Given the description of an element on the screen output the (x, y) to click on. 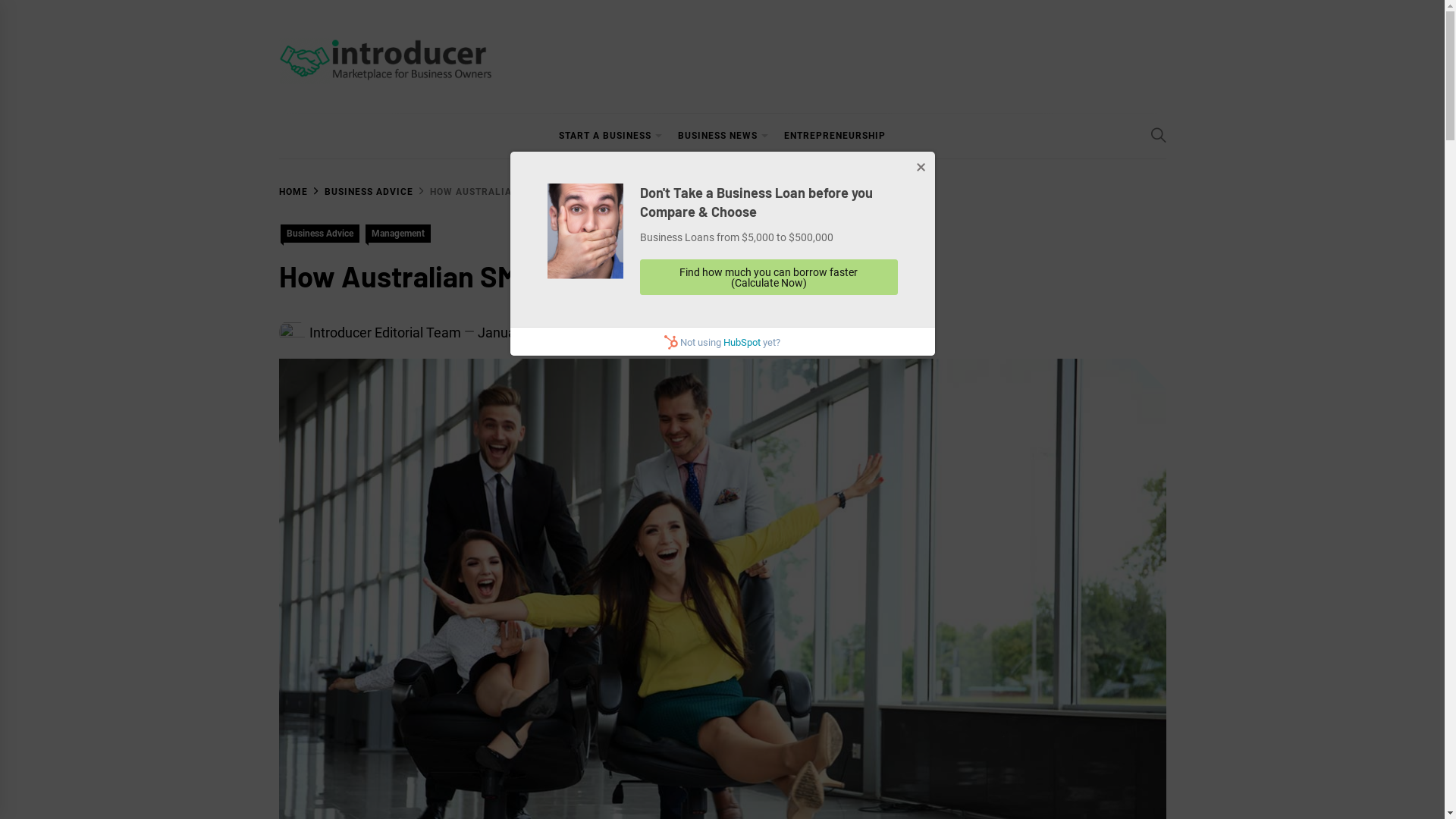
Introducer Editorial Team Element type: text (385, 332)
BUSINESS NEWS Element type: text (723, 135)
HOME Element type: text (293, 191)
Search Element type: text (736, 426)
Management Element type: text (397, 233)
ENTREPRENEURSHIP Element type: text (834, 135)
START A BUSINESS Element type: text (610, 135)
Small Business Loans Blog Element type: text (430, 104)
January 16, 2020 Element type: text (529, 332)
BUSINESS ADVICE Element type: text (360, 191)
Find how much you can borrow faster (Calculate Now) Element type: text (768, 277)
HubSpot Element type: text (741, 342)
Business Advice Element type: text (319, 233)
